Given the description of an element on the screen output the (x, y) to click on. 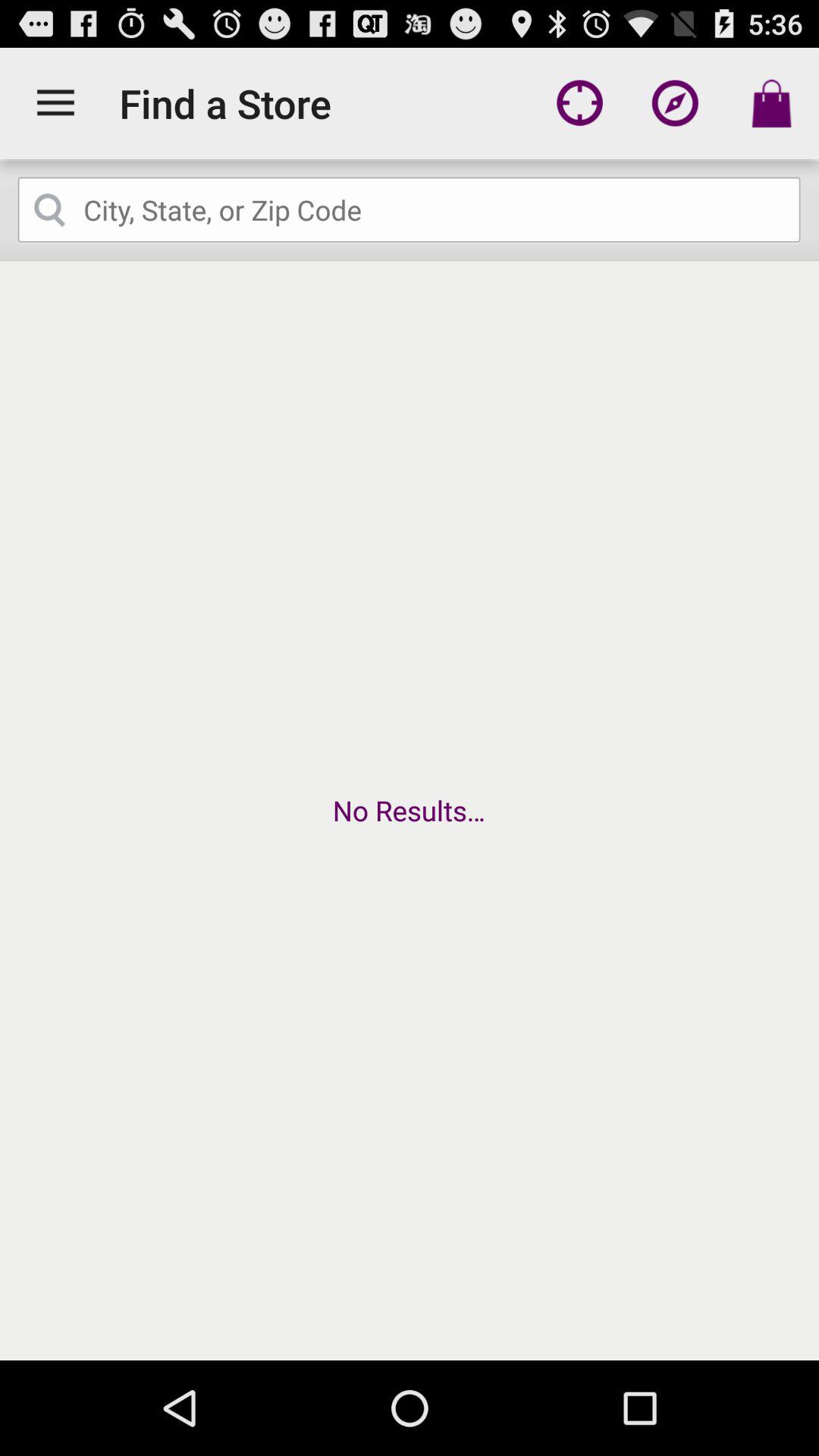
enter your city and state or zip code (409, 210)
